Given the description of an element on the screen output the (x, y) to click on. 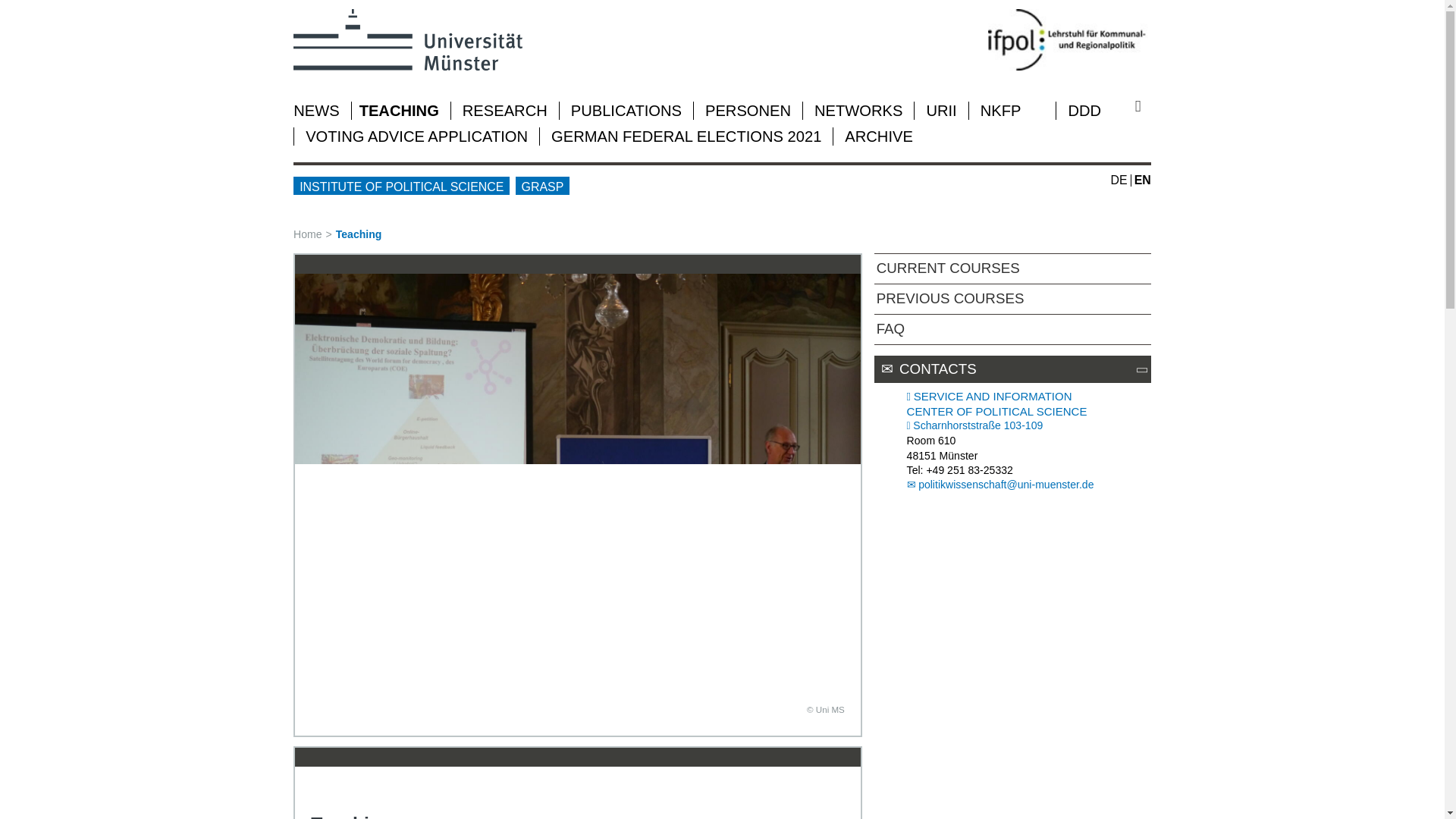
RESEARCH (505, 110)
Go (1143, 106)
URII (941, 110)
VOTING ADVICE APPLICATION (416, 135)
GERMAN FEDERAL ELECTIONS 2021 (686, 135)
ARCHIVE (878, 135)
PERSONEN (747, 110)
NETWORKS (857, 110)
::Link will be opened in a new window (975, 425)
DDD (1083, 110)
English (1142, 179)
Go (1143, 106)
INSTITUTE OF POLITICAL SCIENCE (401, 185)
NKFP (1000, 110)
PUBLICATIONS (625, 110)
